Given the description of an element on the screen output the (x, y) to click on. 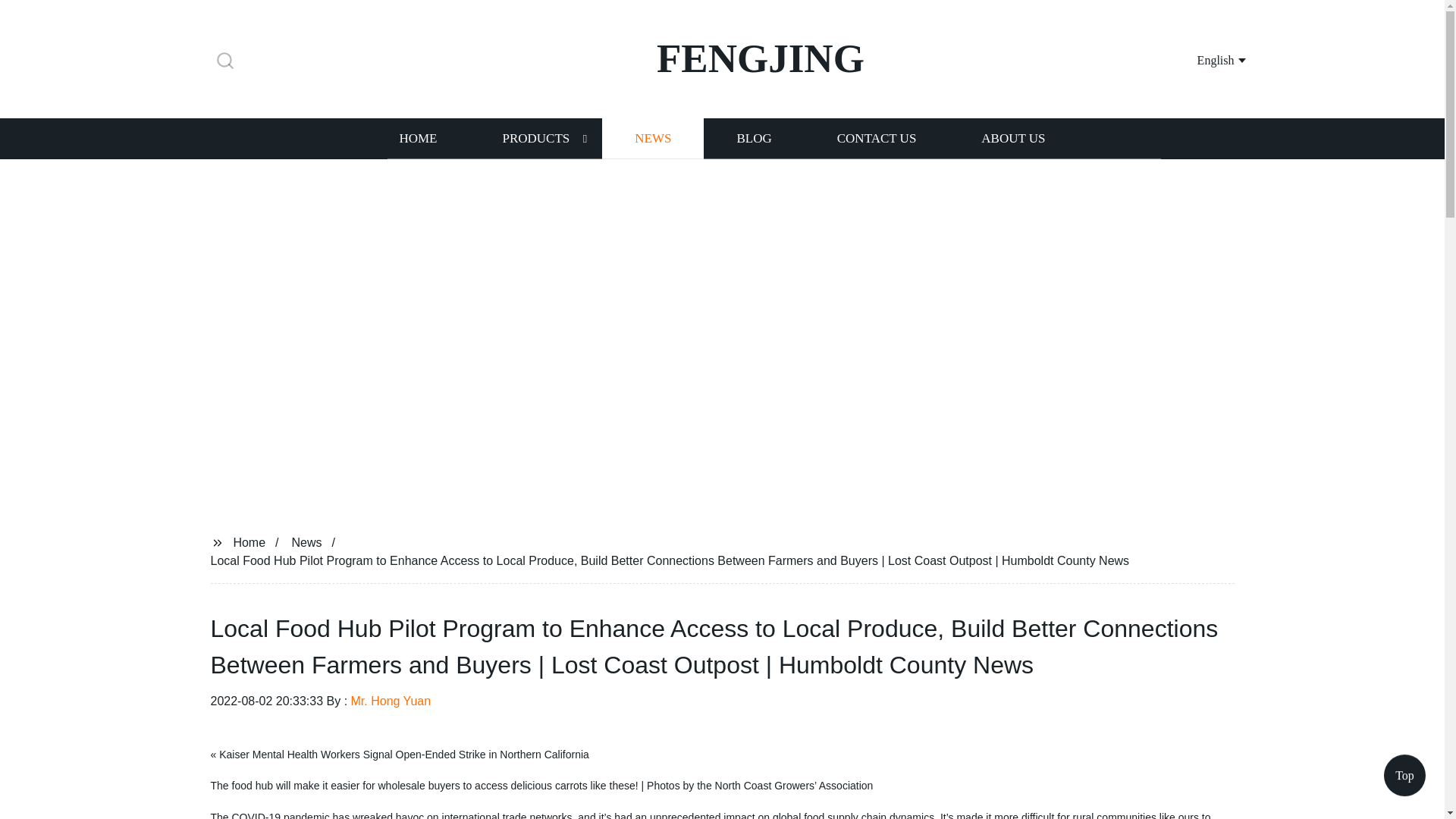
News (306, 541)
HOME (417, 137)
English (1203, 59)
NEWS (652, 137)
CONTACT US (877, 137)
Home (248, 541)
Top (1404, 779)
ABOUT US (1013, 137)
BLOG (753, 137)
English (1203, 59)
PRODUCTS (535, 137)
